Given the description of an element on the screen output the (x, y) to click on. 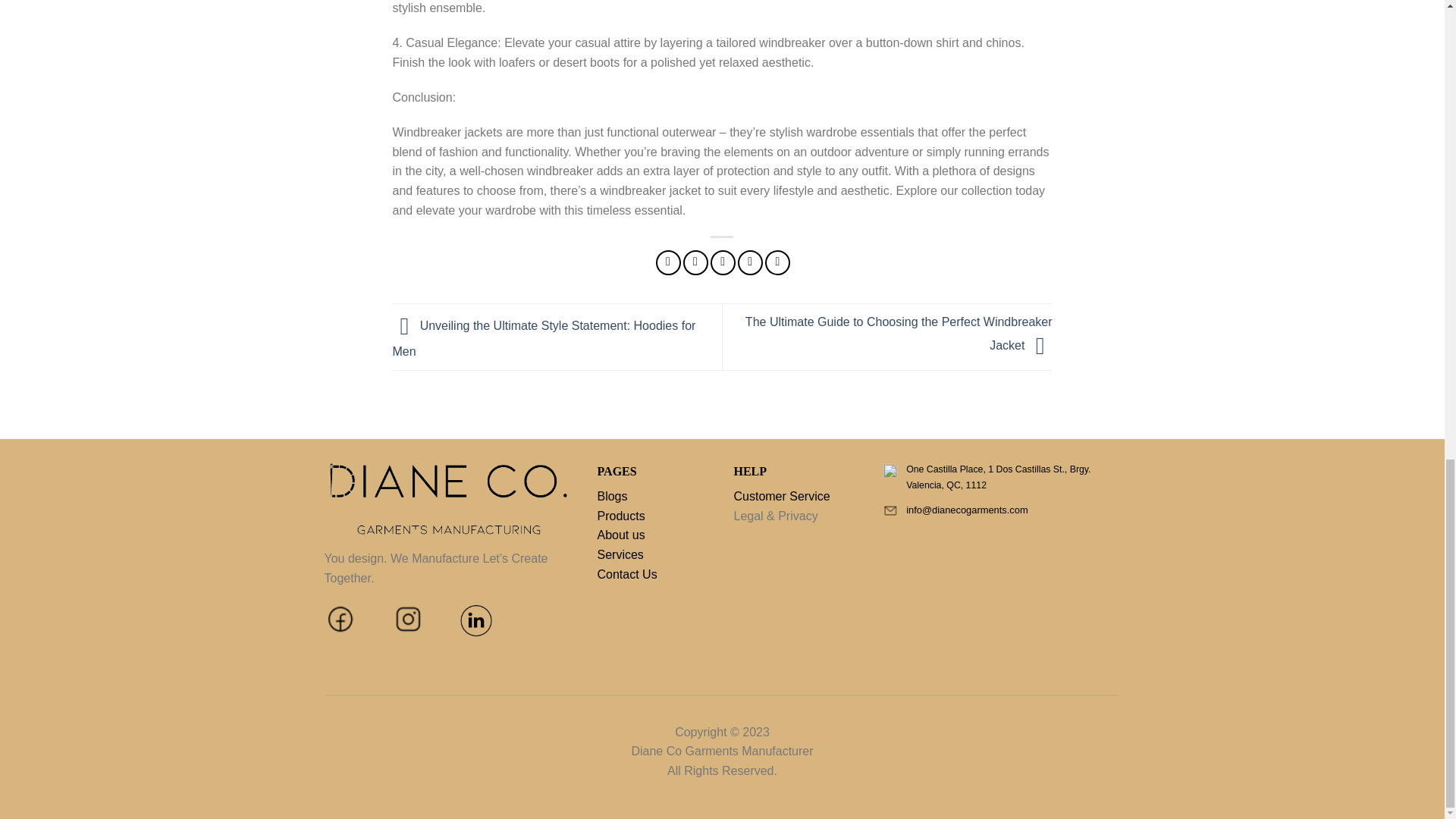
Pin on Pinterest (750, 262)
Share on Facebook (668, 262)
Products (620, 515)
Share on LinkedIn (777, 262)
Share on Twitter (694, 262)
Blogs (611, 495)
Unveiling the Ultimate Style Statement: Hoodies for Men (544, 338)
Email to a Friend (722, 262)
